Given the description of an element on the screen output the (x, y) to click on. 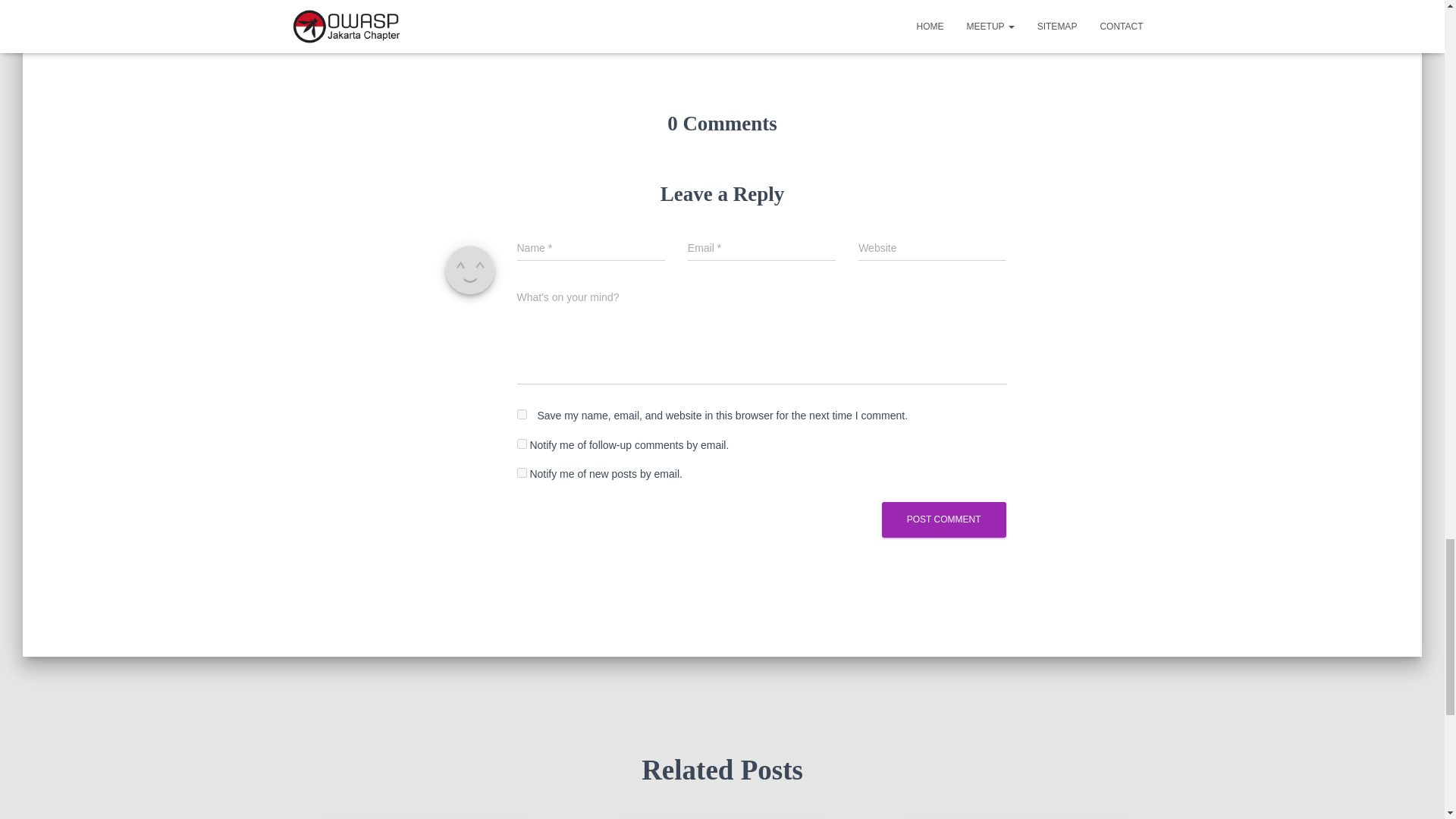
Post Comment (944, 519)
Response (465, 0)
subscribe (521, 443)
subscribe (521, 472)
Post Comment (944, 519)
yes (521, 414)
security (515, 0)
